Given the description of an element on the screen output the (x, y) to click on. 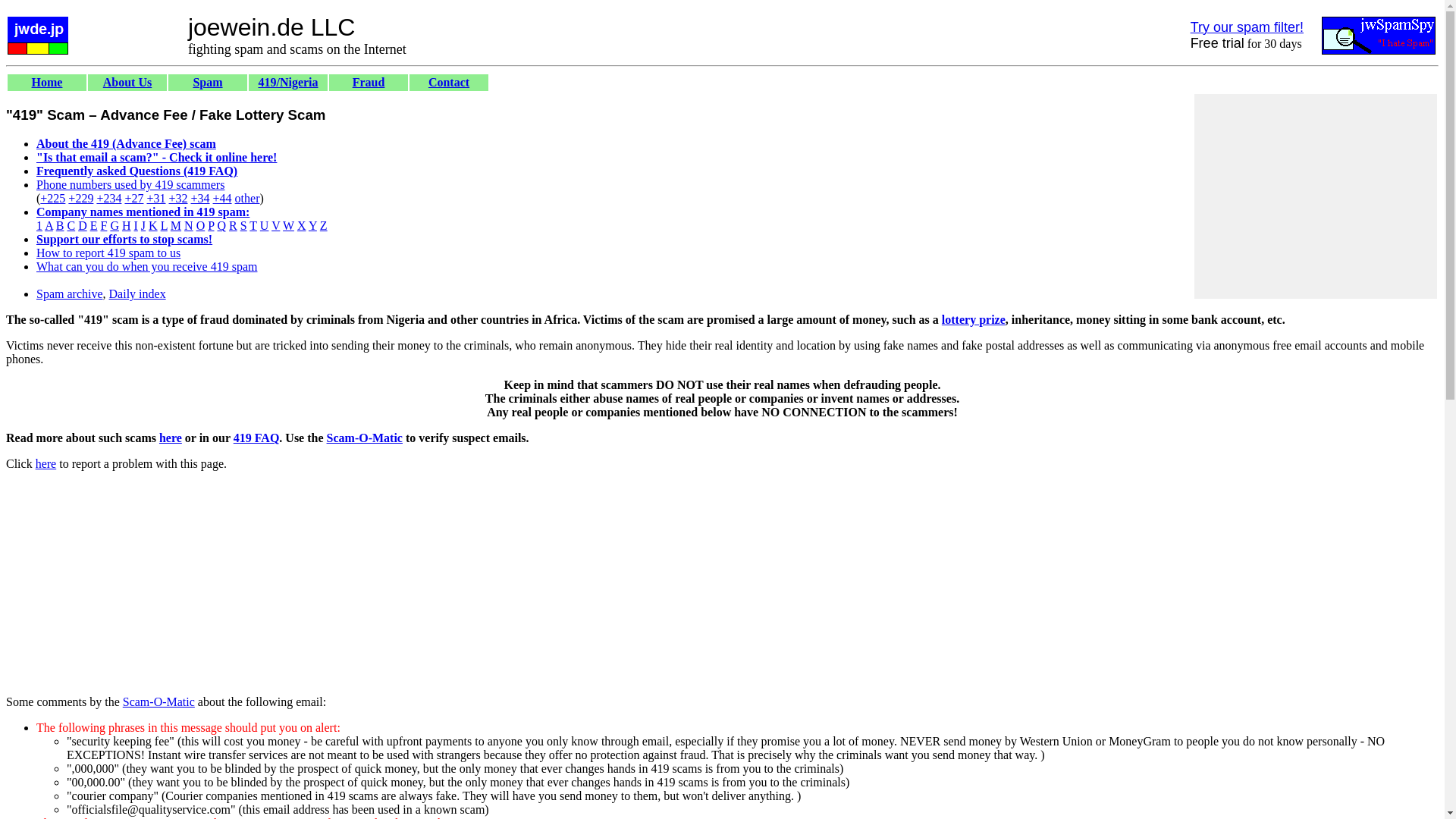
other (247, 197)
Try our spam filter! (1247, 27)
Contact (448, 82)
Phone numbers used by 419 scammers (130, 184)
Spam (207, 82)
"Is that email a scam?" - Check it online here! (156, 156)
Advertisement (1315, 196)
About Us (127, 82)
Advertisement (281, 622)
Home (47, 82)
Company names mentioned in 419 spam: (142, 211)
Fraud (368, 82)
